Given the description of an element on the screen output the (x, y) to click on. 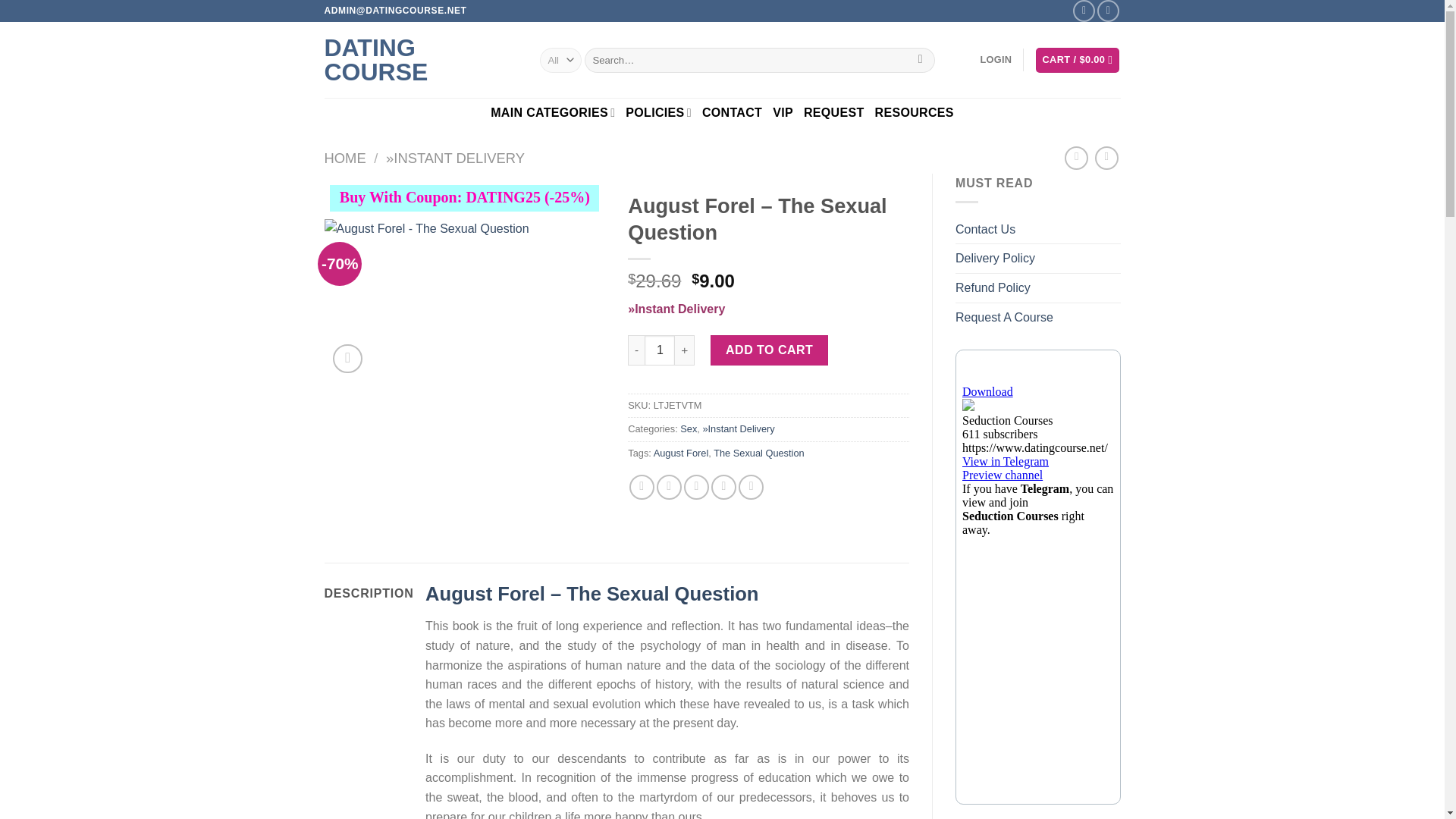
Qty (660, 349)
Email to a Friend (696, 487)
Pin on Pinterest (723, 487)
Send us an email (1108, 11)
Zoom (347, 358)
1 (660, 349)
DATING COURSE (420, 60)
Refund Policy (992, 287)
HOME (345, 157)
POLICIES (658, 112)
